Given the description of an element on the screen output the (x, y) to click on. 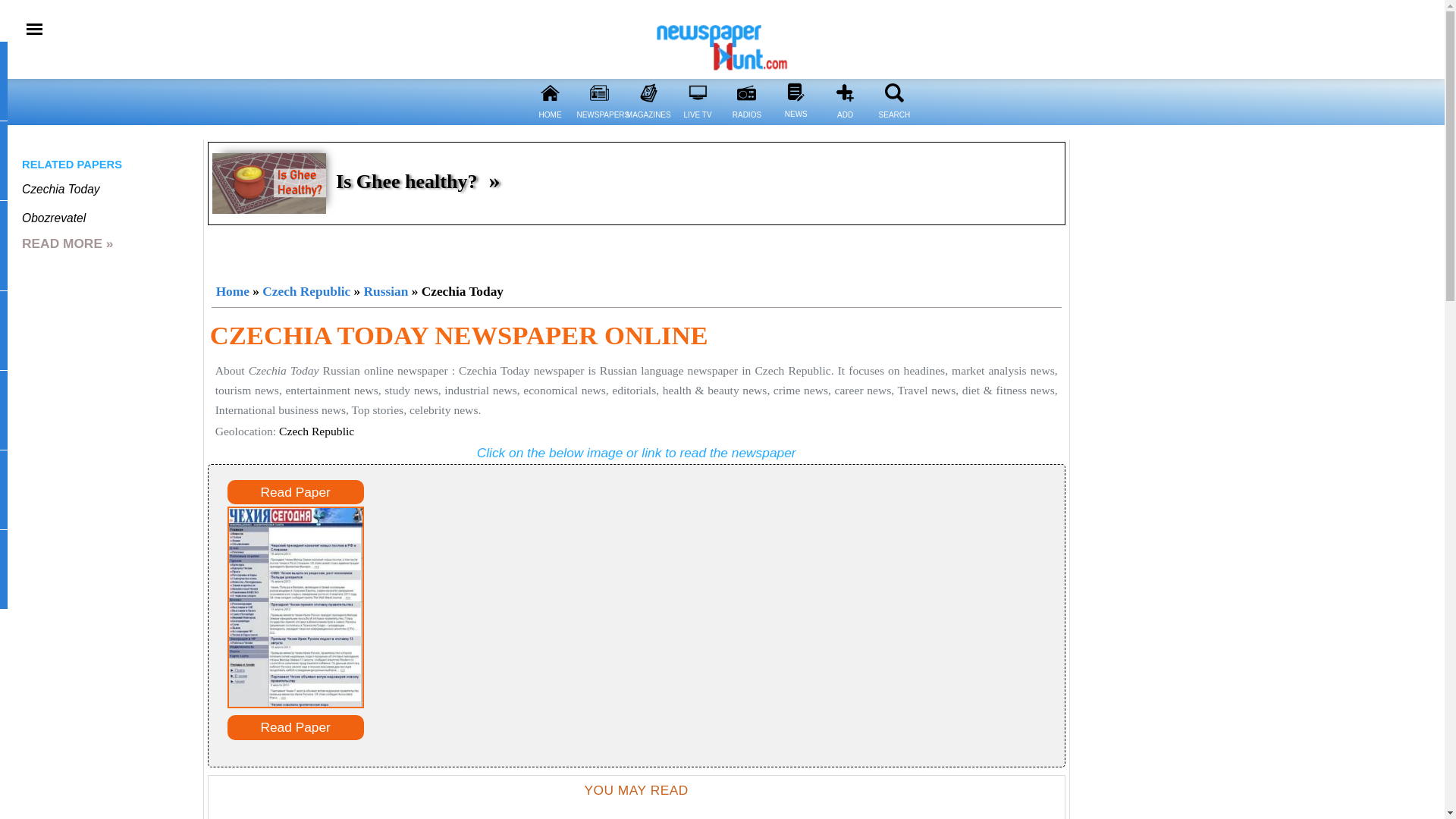
Read Paper (295, 492)
SEARCH (893, 124)
RADIOS (746, 124)
Czechia Today (60, 188)
Russian Newspapers in czech-republic (386, 291)
HOME (549, 92)
NEWS (795, 123)
NEWS (795, 91)
RADIOS (745, 92)
Russian (386, 291)
